Given the description of an element on the screen output the (x, y) to click on. 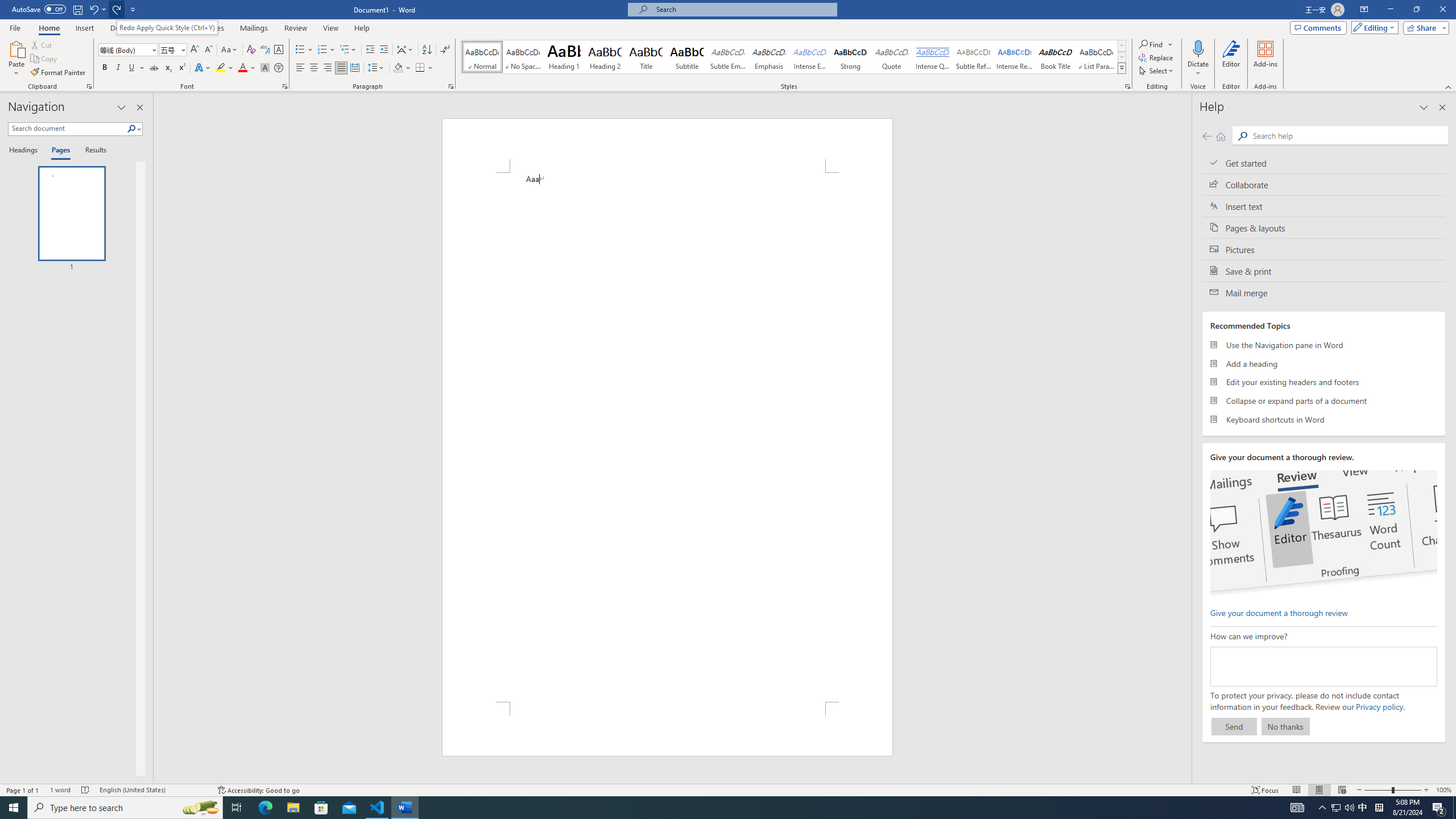
Mail merge (1323, 292)
Get started (1323, 162)
Subtle Emphasis (727, 56)
Book Title (1055, 56)
Keyboard shortcuts in Word (1323, 419)
Page 1 content (667, 436)
